Given the description of an element on the screen output the (x, y) to click on. 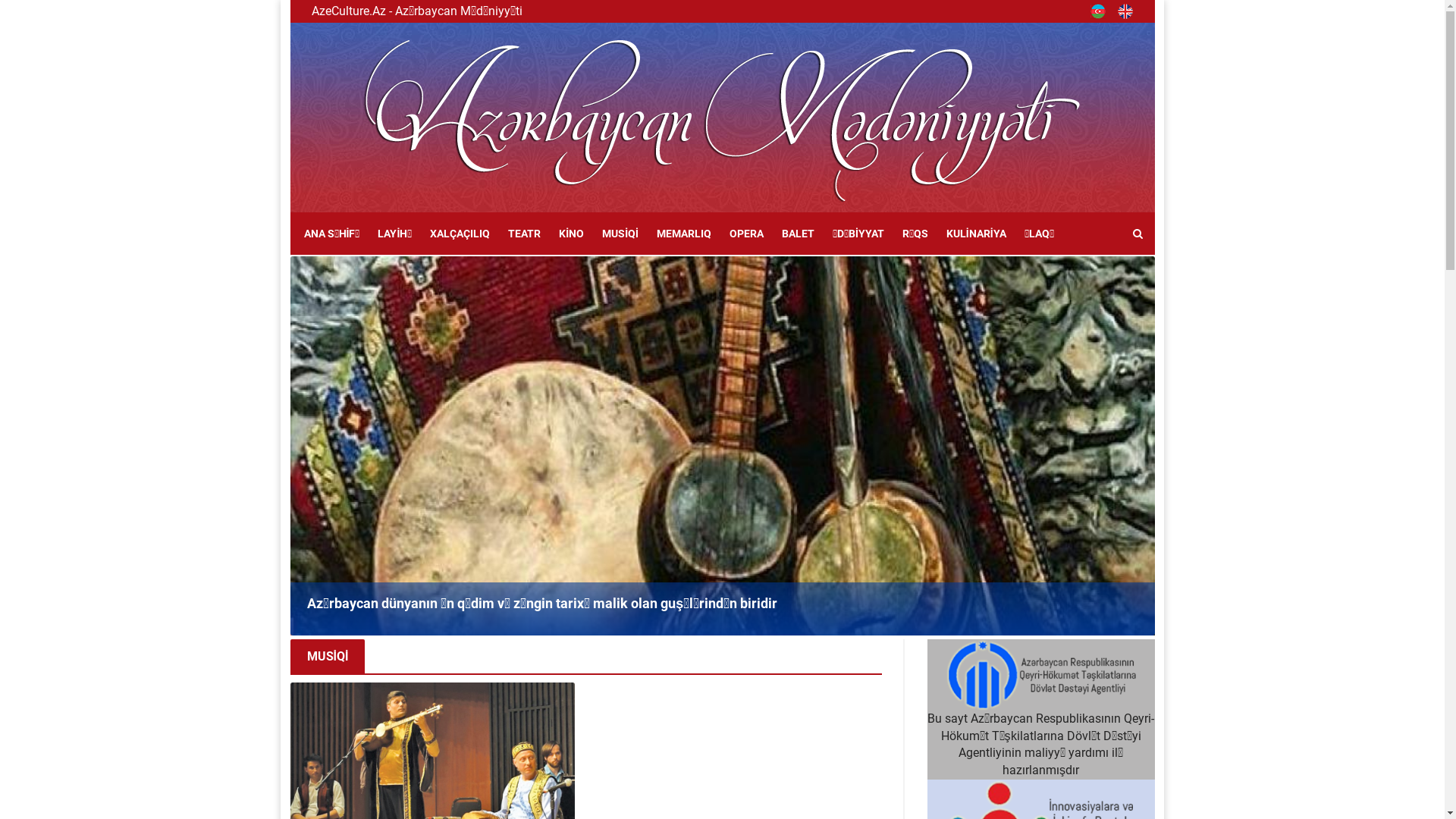
BALET Element type: text (797, 233)
OPERA Element type: text (746, 233)
TEATR Element type: text (523, 233)
    Element type: text (1102, 10)
MEMARLIQ Element type: text (683, 233)
